Given the description of an element on the screen output the (x, y) to click on. 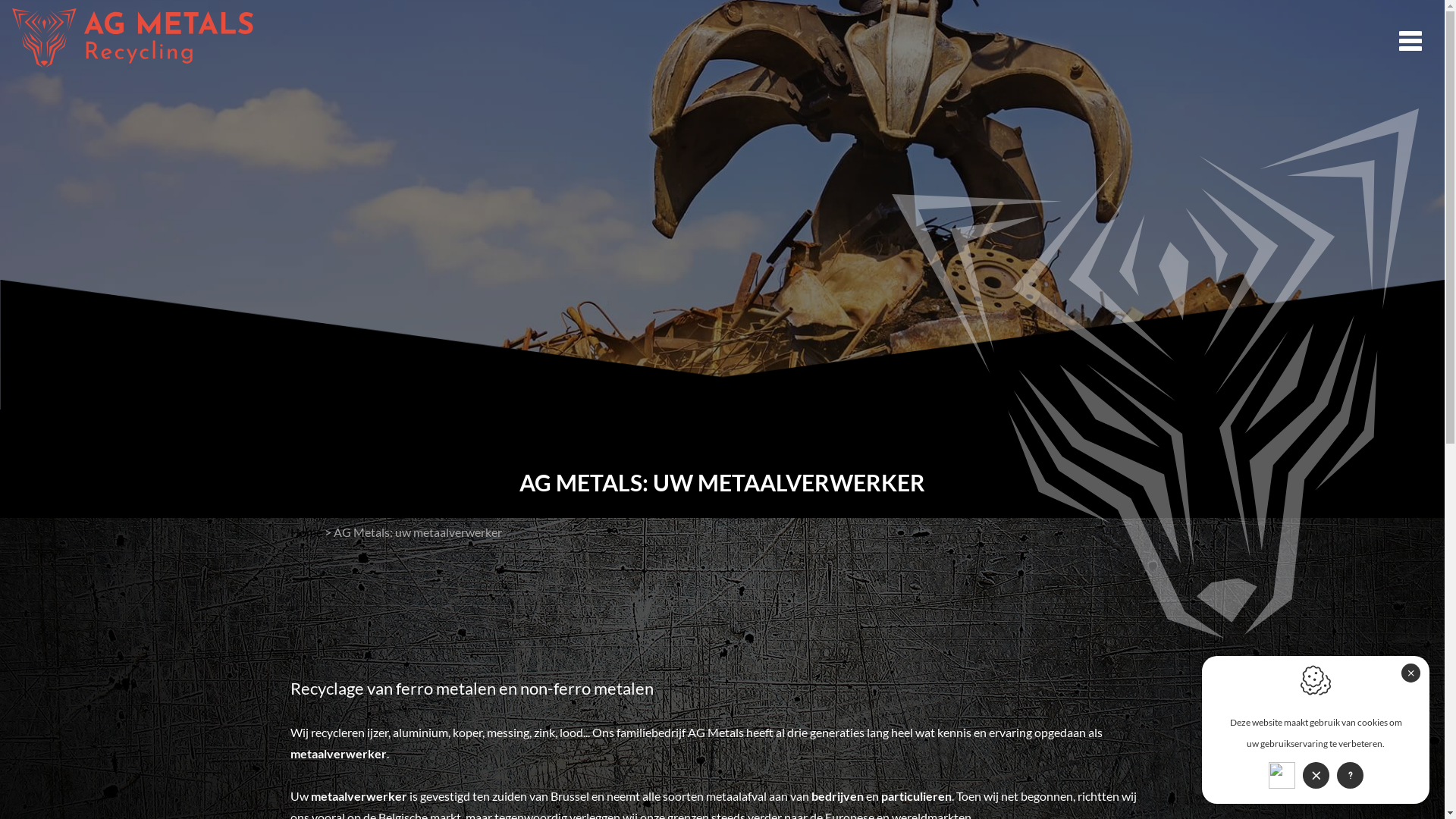
bedrijven Element type: text (837, 795)
metaalverwerker Element type: text (337, 753)
particulieren Element type: text (916, 795)
Home Element type: text (305, 531)
